Given the description of an element on the screen output the (x, y) to click on. 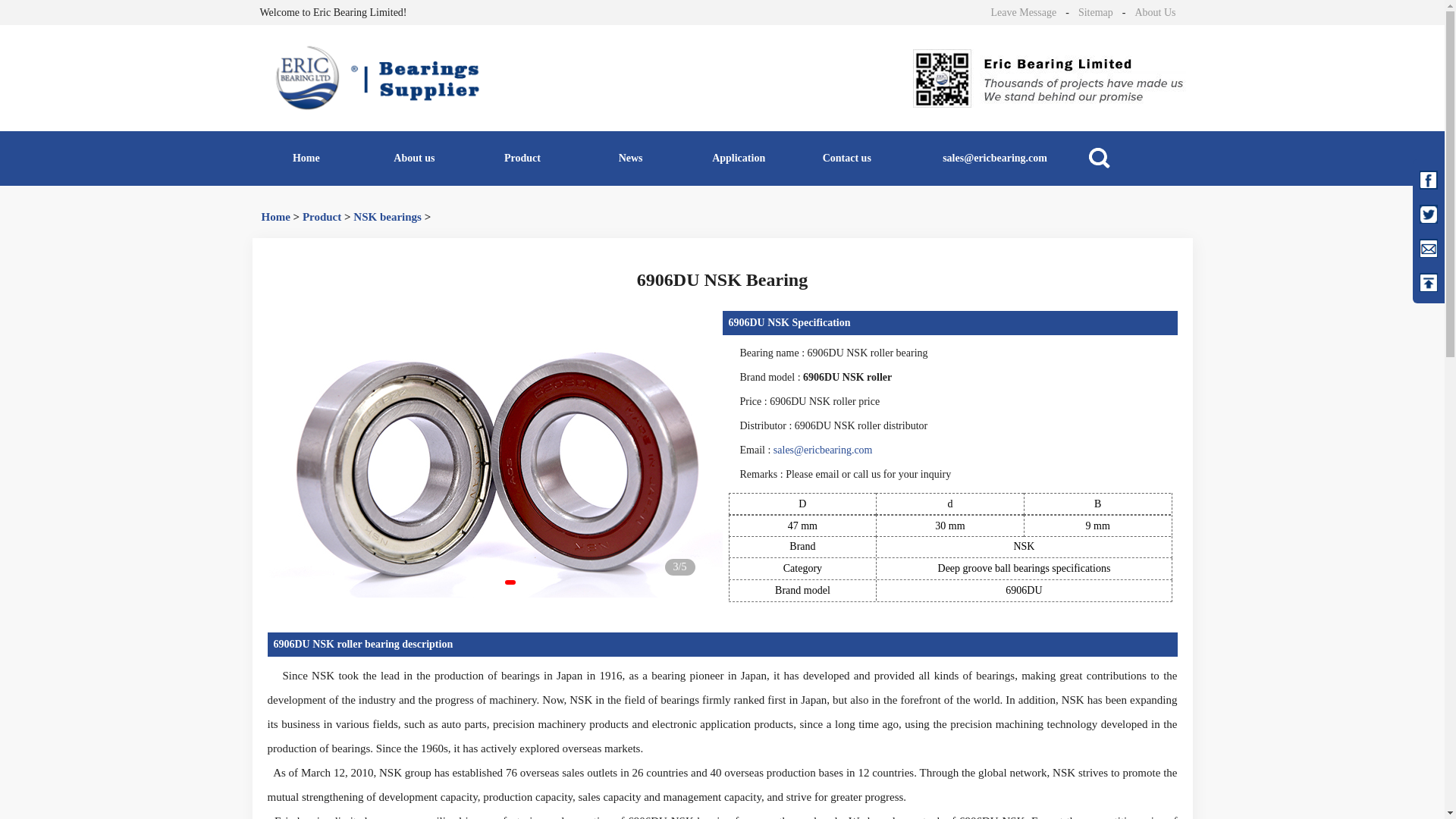
About us Element type: text (414, 158)
Home Element type: text (274, 216)
Product Element type: text (522, 158)
Sitemap Element type: text (1095, 12)
Home Element type: text (305, 158)
News Element type: text (630, 158)
Product Element type: text (321, 216)
sales@ericbearing.com Element type: text (994, 158)
Contact us Element type: text (846, 158)
Leave Message Element type: text (1024, 12)
Application Element type: text (738, 158)
NSK bearings Element type: text (387, 216)
sales@ericbearing.com Element type: text (822, 449)
About Us Element type: text (1154, 12)
6906DU NSK roller bearing Element type: hover (493, 453)
Eric Bearing Supplier Co.,Ltd mobile site Element type: hover (1052, 78)
